Given the description of an element on the screen output the (x, y) to click on. 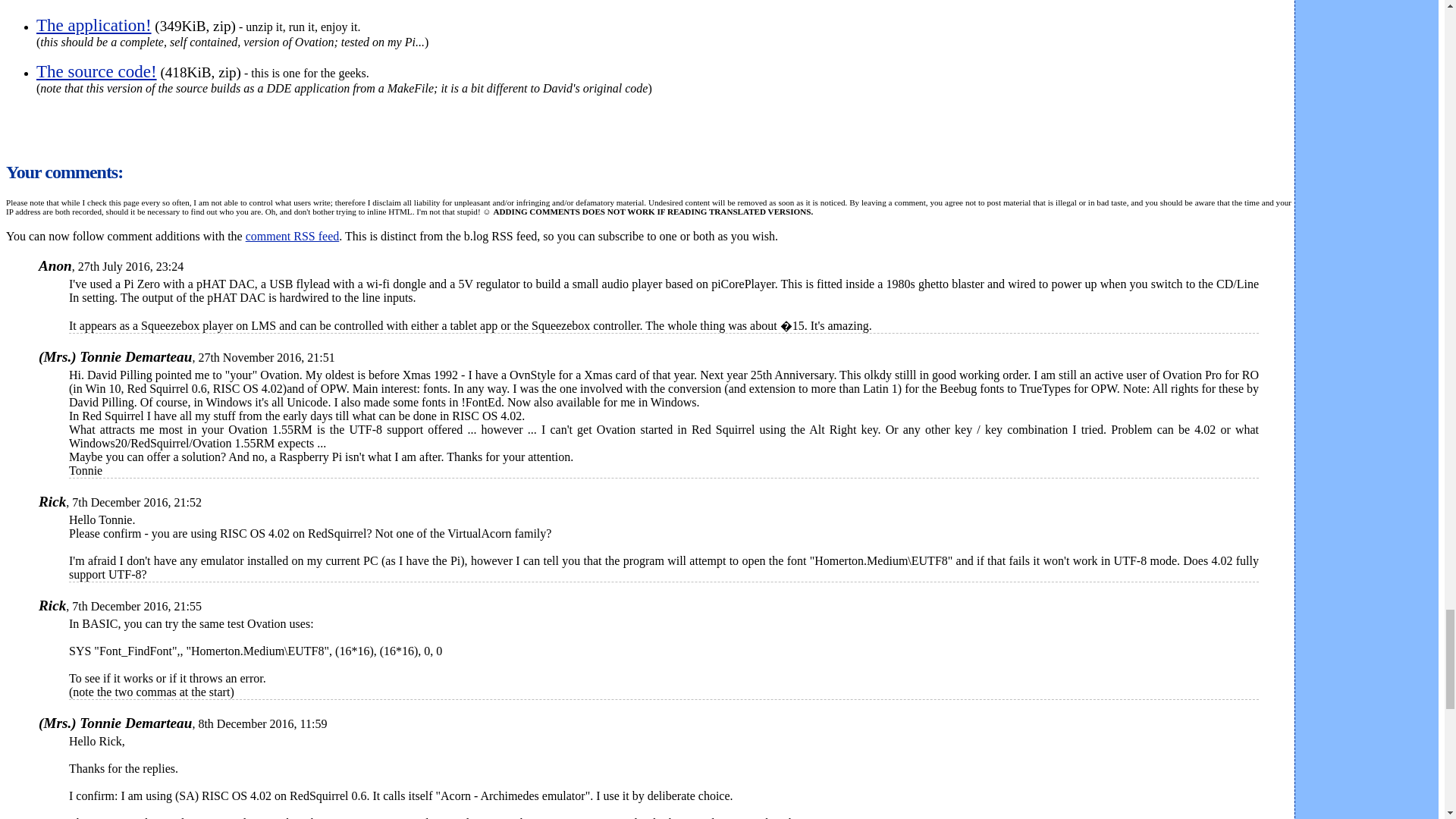
comment RSS feed (292, 236)
The application! (93, 25)
The source code! (96, 71)
